Given the description of an element on the screen output the (x, y) to click on. 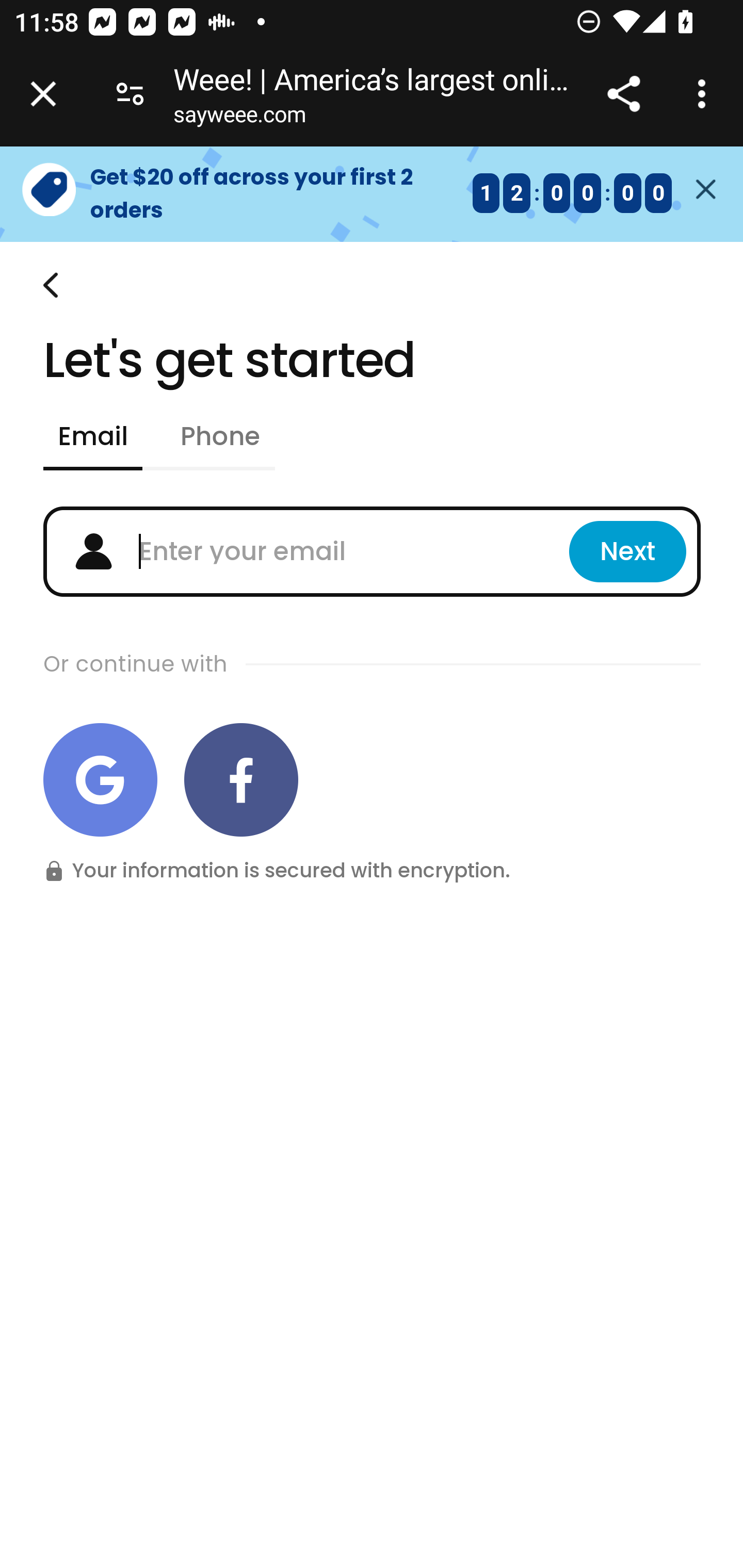
Close tab (43, 93)
Share link address (623, 93)
Customize and control Google Chrome (705, 93)
Connection is secure (129, 93)
sayweee.com (239, 117)
Next (627, 551)
